Given the description of an element on the screen output the (x, y) to click on. 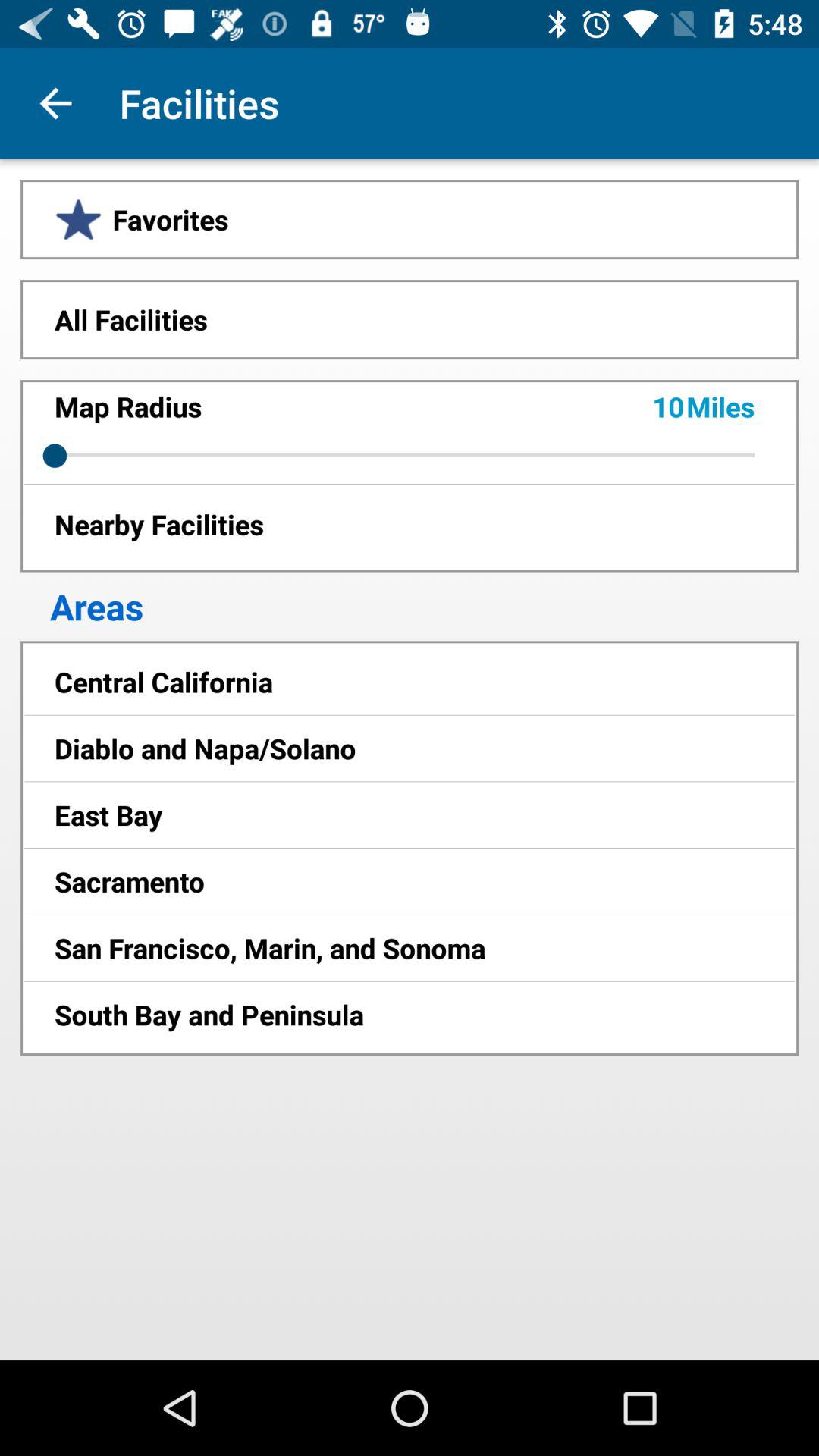
swipe to the favorites (409, 219)
